Given the description of an element on the screen output the (x, y) to click on. 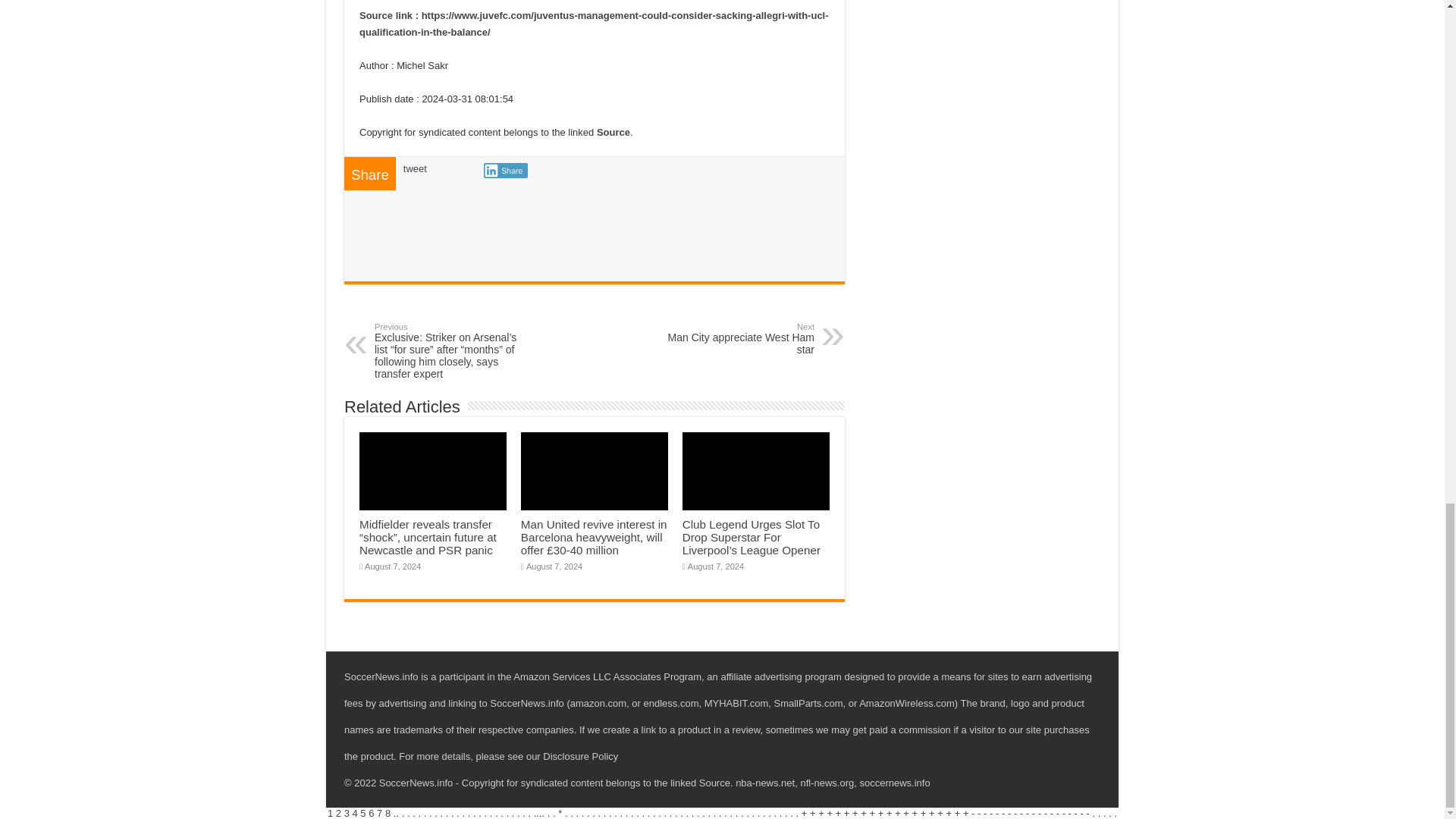
tweet (414, 168)
Source (613, 132)
Share (505, 170)
